Given the description of an element on the screen output the (x, y) to click on. 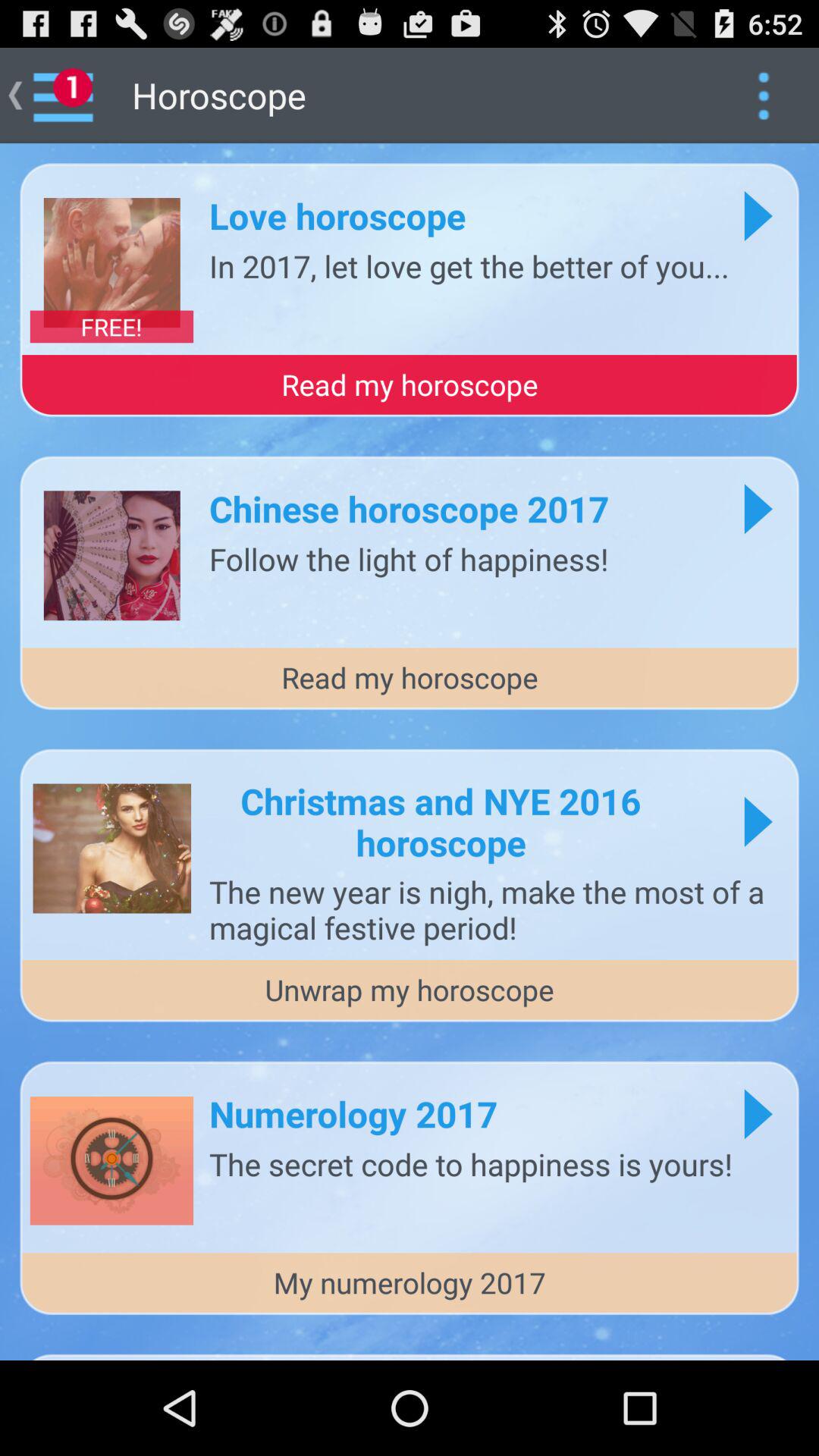
click the in 2017 let app (469, 265)
